Given the description of an element on the screen output the (x, y) to click on. 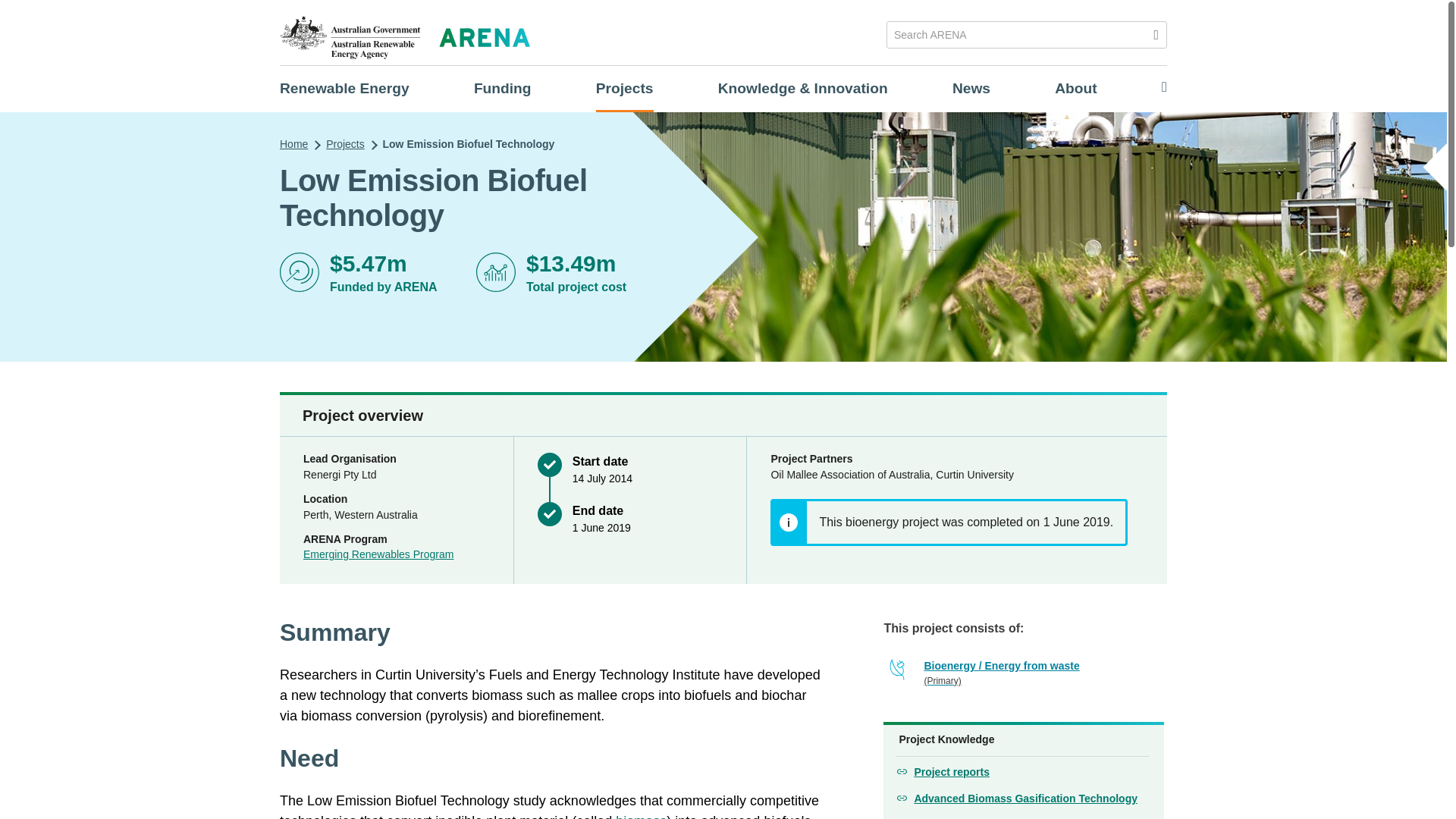
Renewable Energy (344, 88)
What is renewable energy (344, 88)
About (1075, 88)
Funding (502, 88)
News (971, 88)
Projects (624, 88)
